Given the description of an element on the screen output the (x, y) to click on. 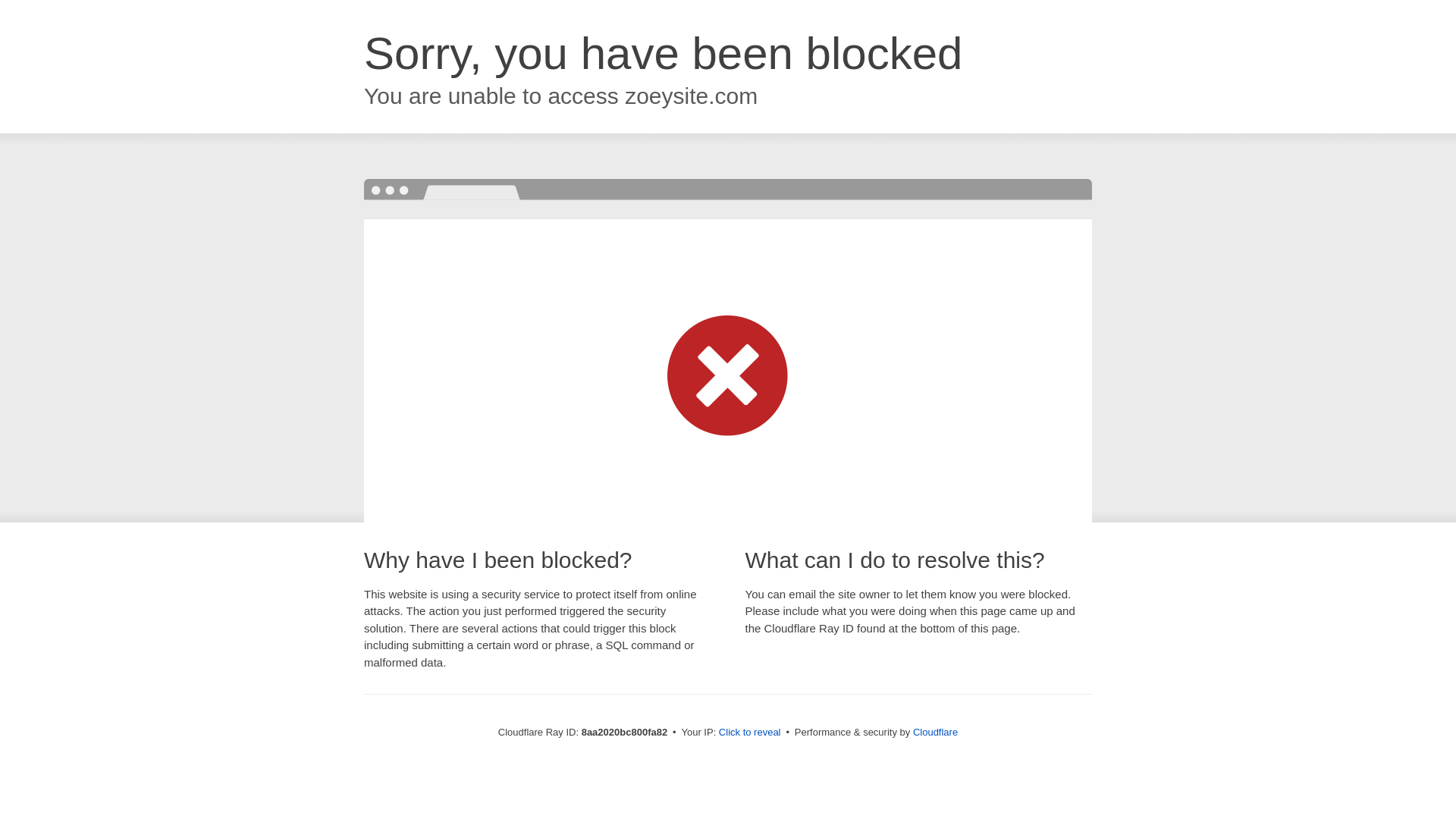
Click to reveal (749, 732)
Cloudflare (935, 731)
